Given the description of an element on the screen output the (x, y) to click on. 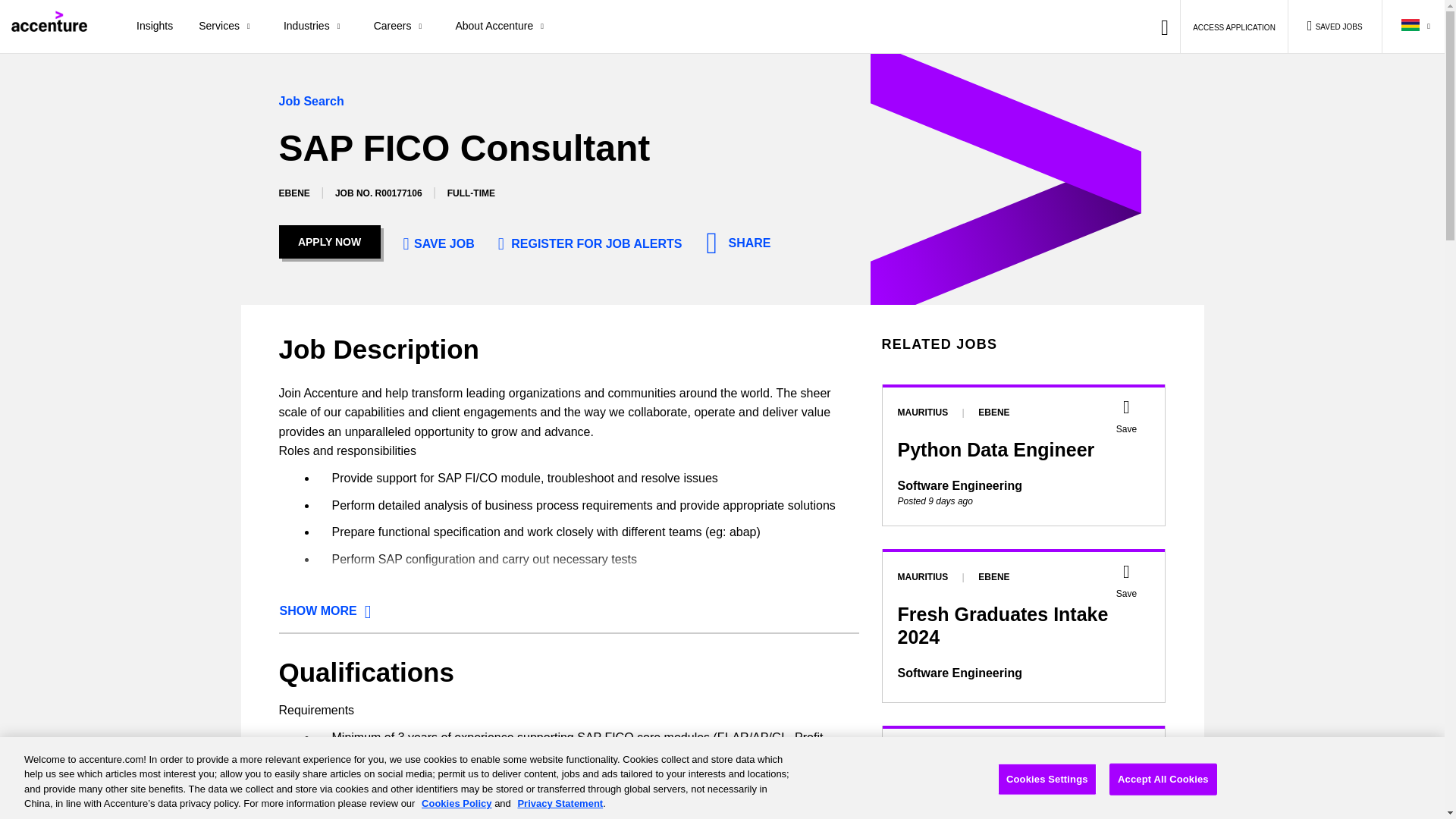
Services (228, 26)
Industries (315, 26)
Insights (154, 26)
